Given the description of an element on the screen output the (x, y) to click on. 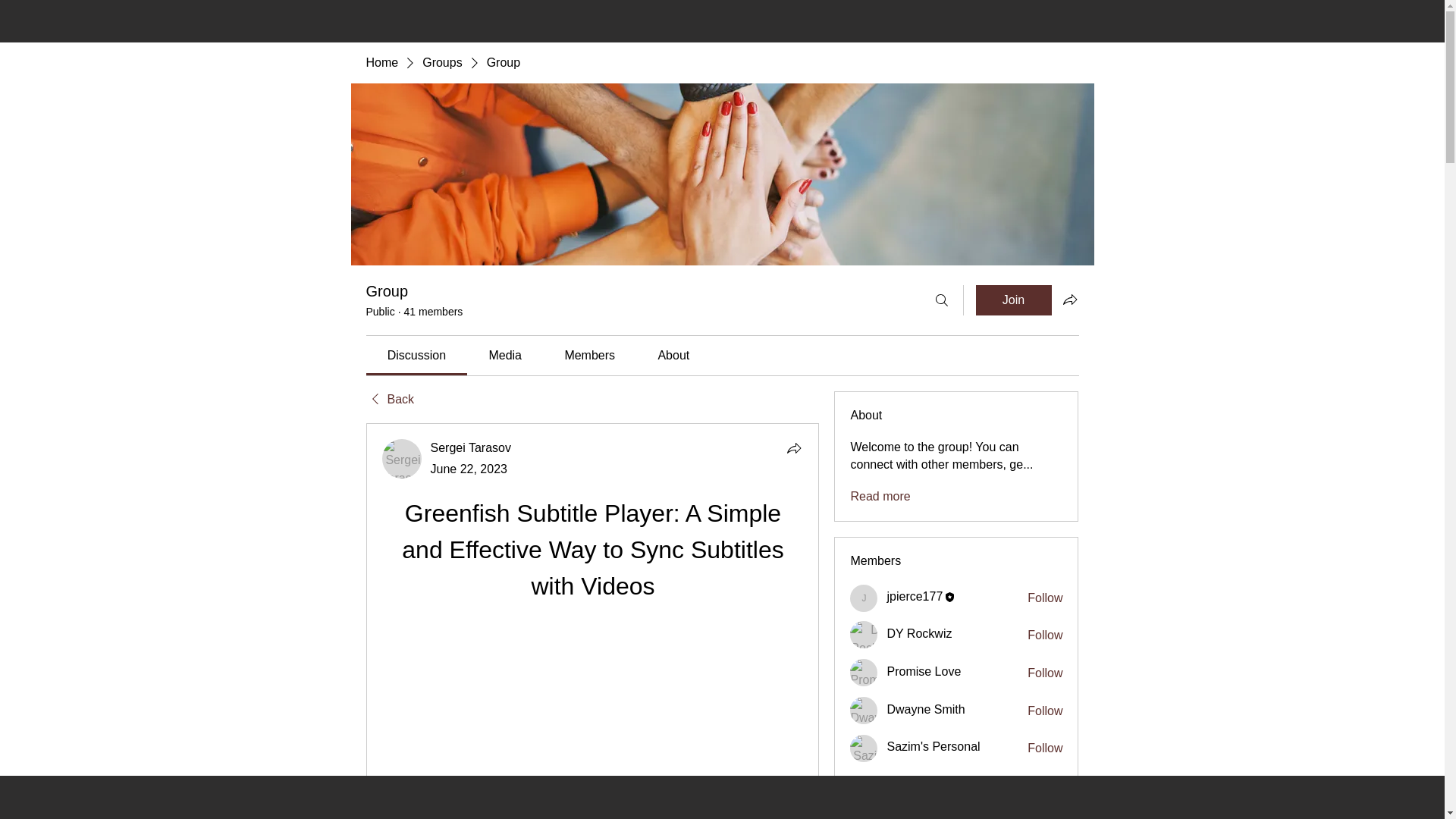
Back (389, 399)
June 22, 2023 (468, 468)
jpierce177 (914, 596)
jpierce177 (914, 596)
Home (381, 62)
Follow (1044, 635)
Promise Love (923, 671)
Sazim's Personal (932, 746)
Dwayne Smith (863, 709)
Follow (1044, 748)
